Given the description of an element on the screen output the (x, y) to click on. 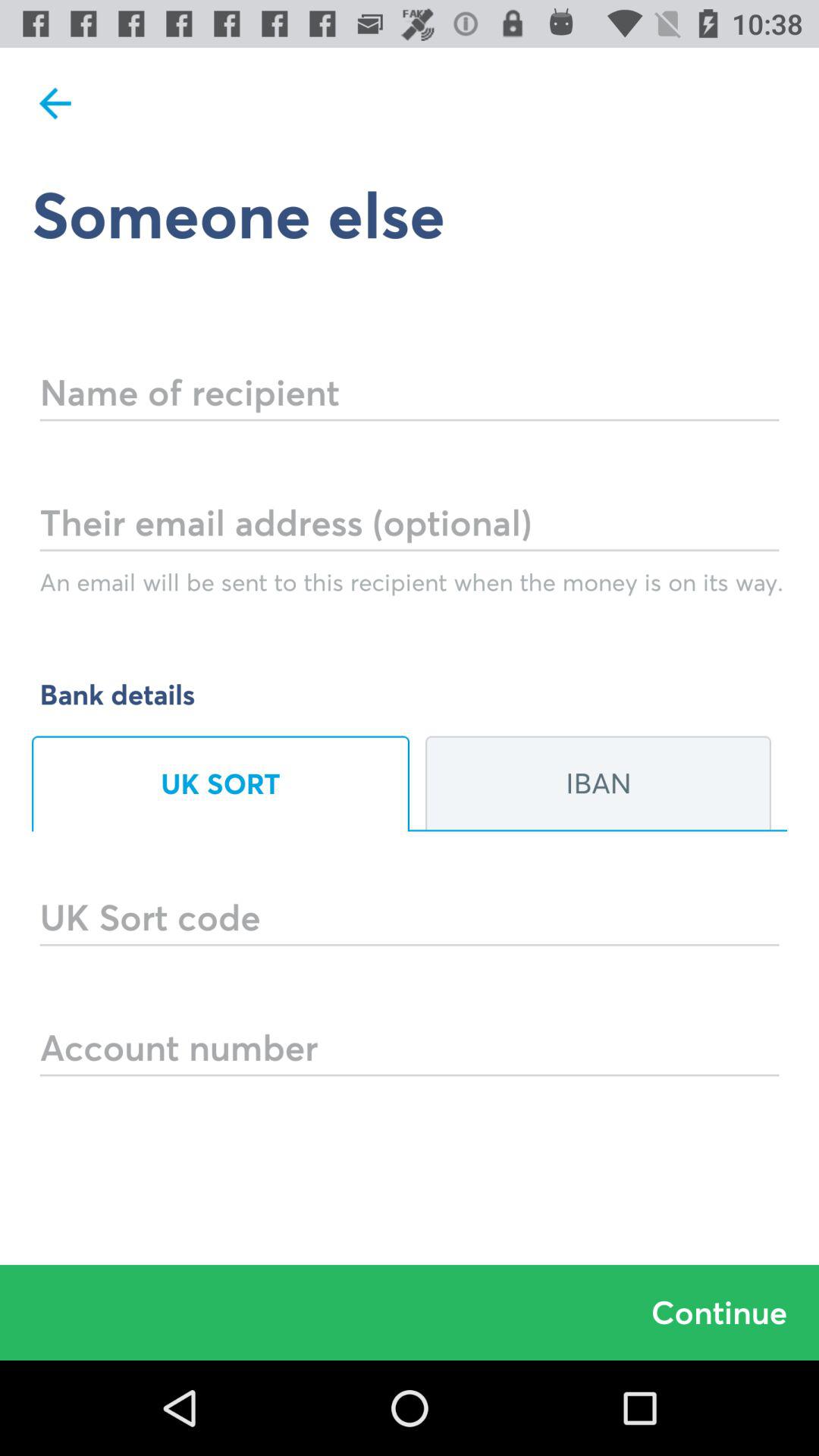
launch iban on the right (598, 783)
